Given the description of an element on the screen output the (x, y) to click on. 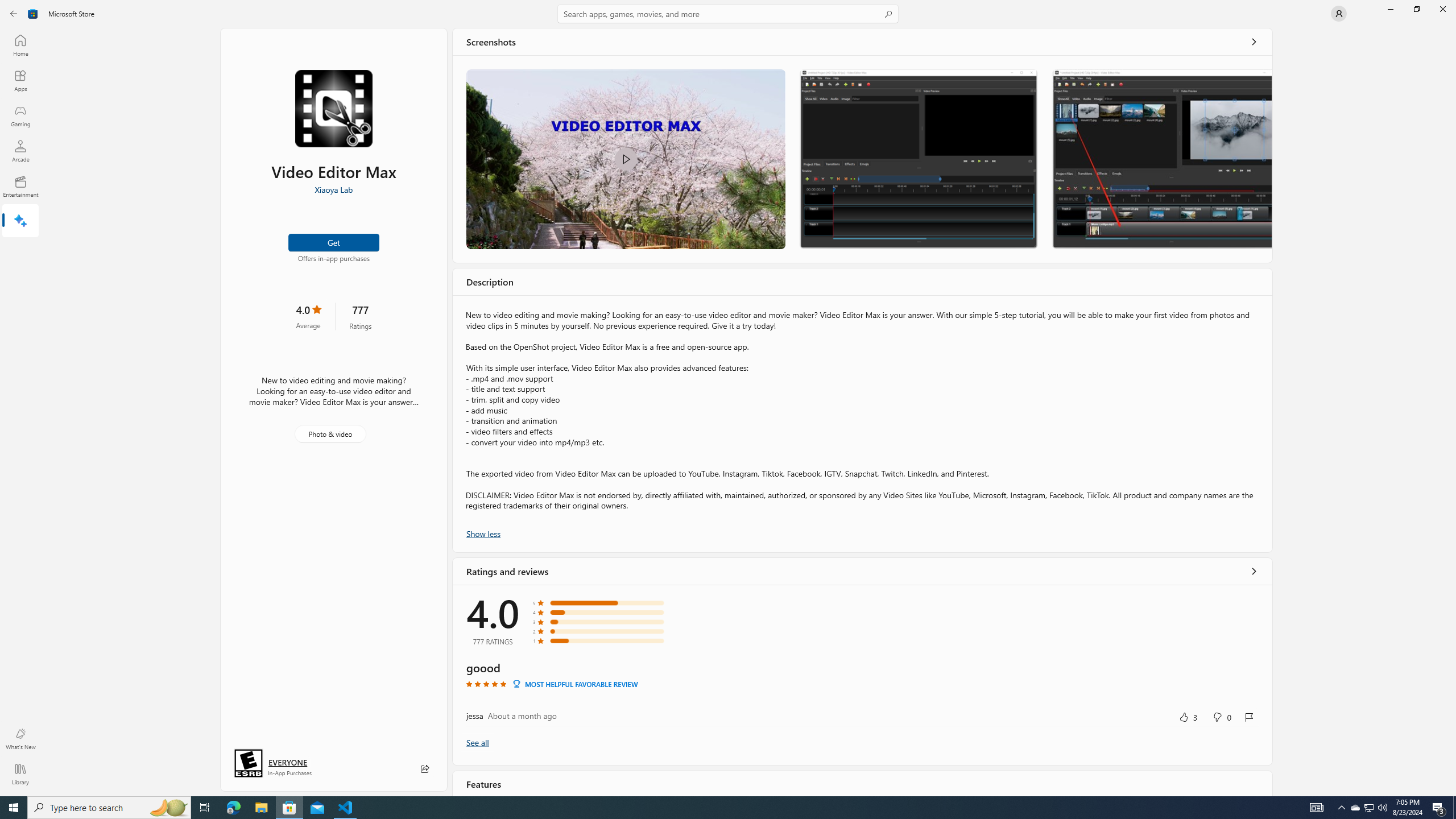
Show less (482, 532)
Minimize Microsoft Store (1390, 9)
Entertainment (20, 185)
Show all ratings and reviews (477, 742)
4.0 stars. Click to skip to ratings and reviews (307, 315)
Arcade (20, 150)
Screenshot 3 (1161, 158)
Share (424, 769)
Video Editor Max Trailer (624, 158)
Screenshot 2 (917, 158)
Yes, this was helpful. 3 votes. (1188, 716)
Search (727, 13)
What's New (20, 738)
Age rating: EVERYONE. Click for more information. (287, 762)
Review by jessa. Rated 5 out of five stars. goood. (861, 693)
